Given the description of an element on the screen output the (x, y) to click on. 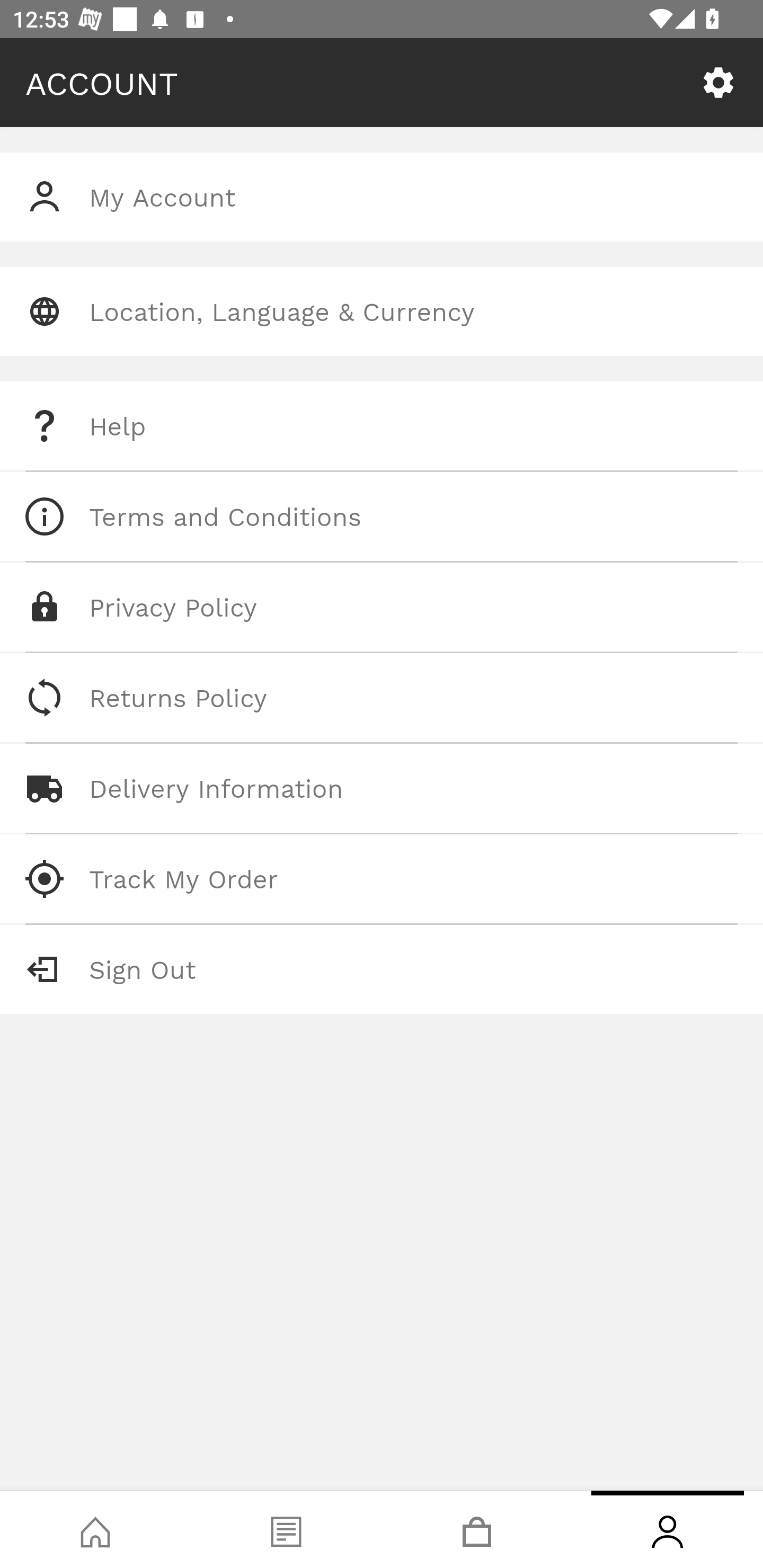
SETTINGS (718, 82)
My Account (381, 196)
Location, Language & Currency (381, 310)
Help (381, 425)
Terms and Conditions (381, 516)
Privacy Policy (381, 607)
Returns Policy (381, 697)
Delivery Information (381, 787)
Track My Order (381, 878)
Sign Out (381, 969)
Shop, tab, 1 of 4 (95, 1529)
Blog, tab, 2 of 4 (285, 1529)
Basket, tab, 3 of 4 (476, 1529)
Account, tab, 4 of 4 (667, 1529)
